Given the description of an element on the screen output the (x, y) to click on. 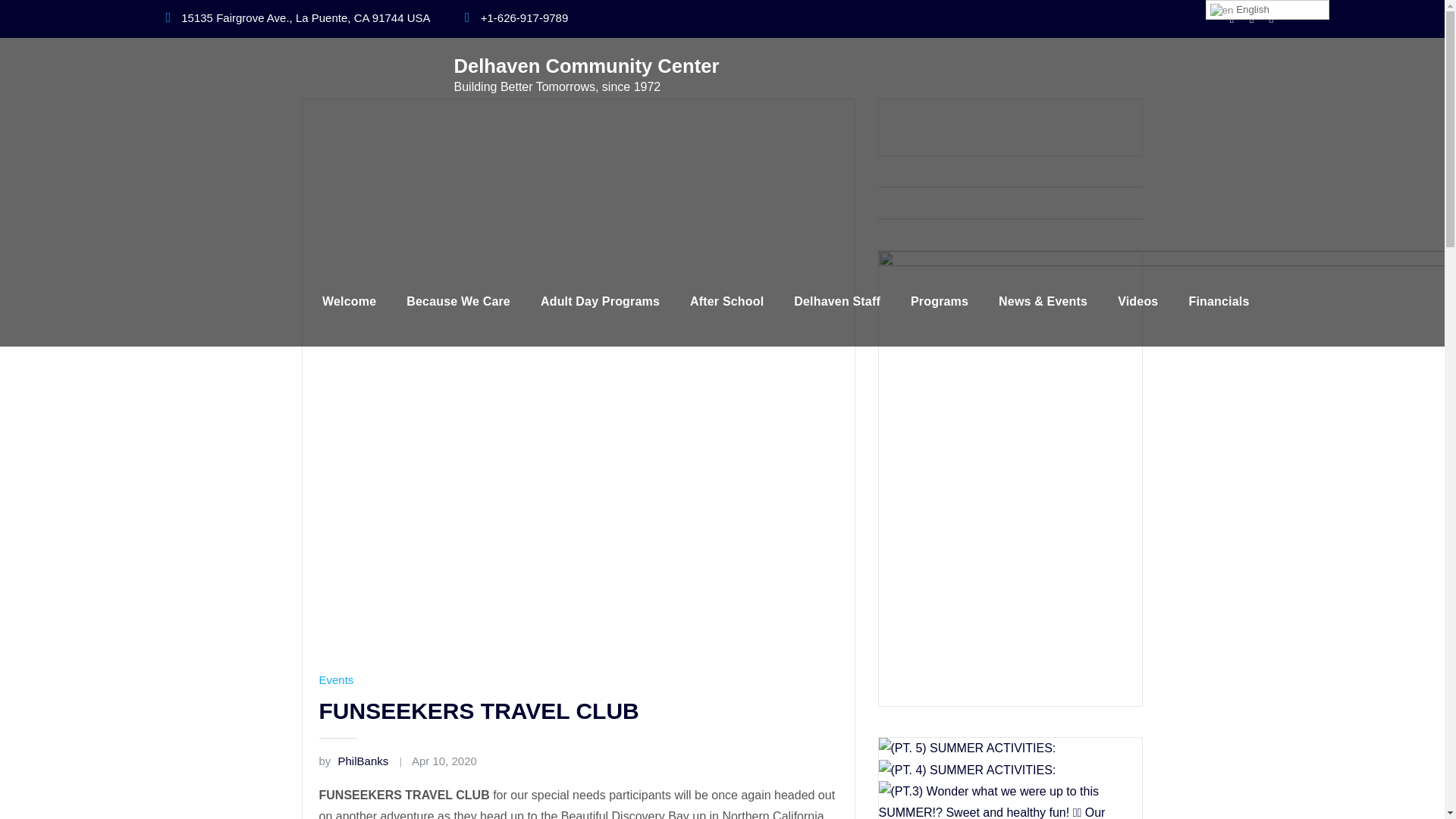
Events (335, 680)
Apr 10, 2020 (444, 761)
After School (726, 301)
Because We Care (458, 301)
Programs (939, 301)
by PhilBanks (353, 761)
Financials (1218, 301)
Adult Day Programs (600, 301)
15135 Fairgrove Ave., La Puente, CA 91744 USA (304, 17)
Delhaven Staff (836, 301)
